Given the description of an element on the screen output the (x, y) to click on. 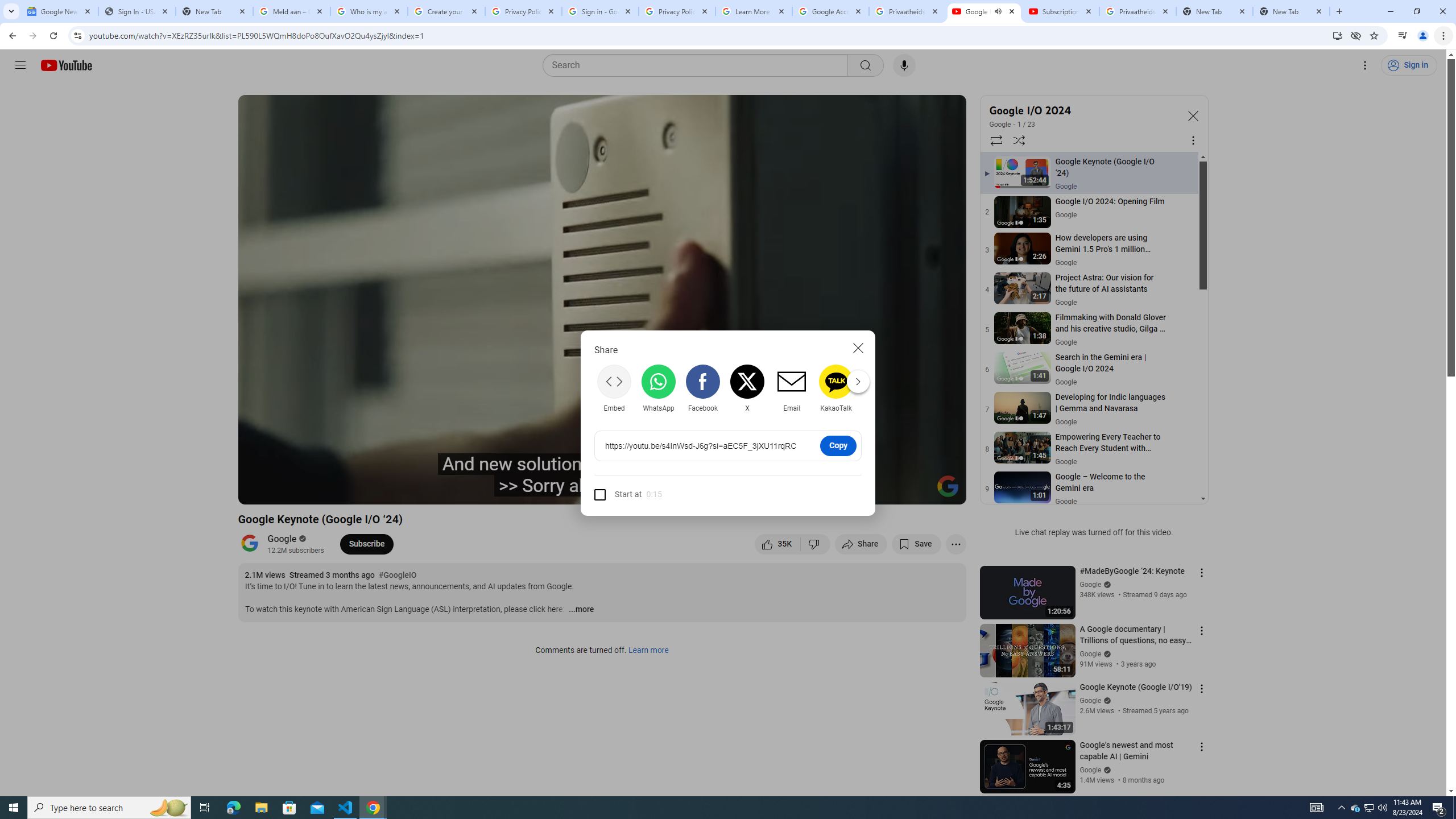
Play (k) (285, 490)
Cancel (857, 347)
Save to playlist (915, 543)
Start at (618, 494)
X (747, 388)
KakaoTalk (836, 388)
